Given the description of an element on the screen output the (x, y) to click on. 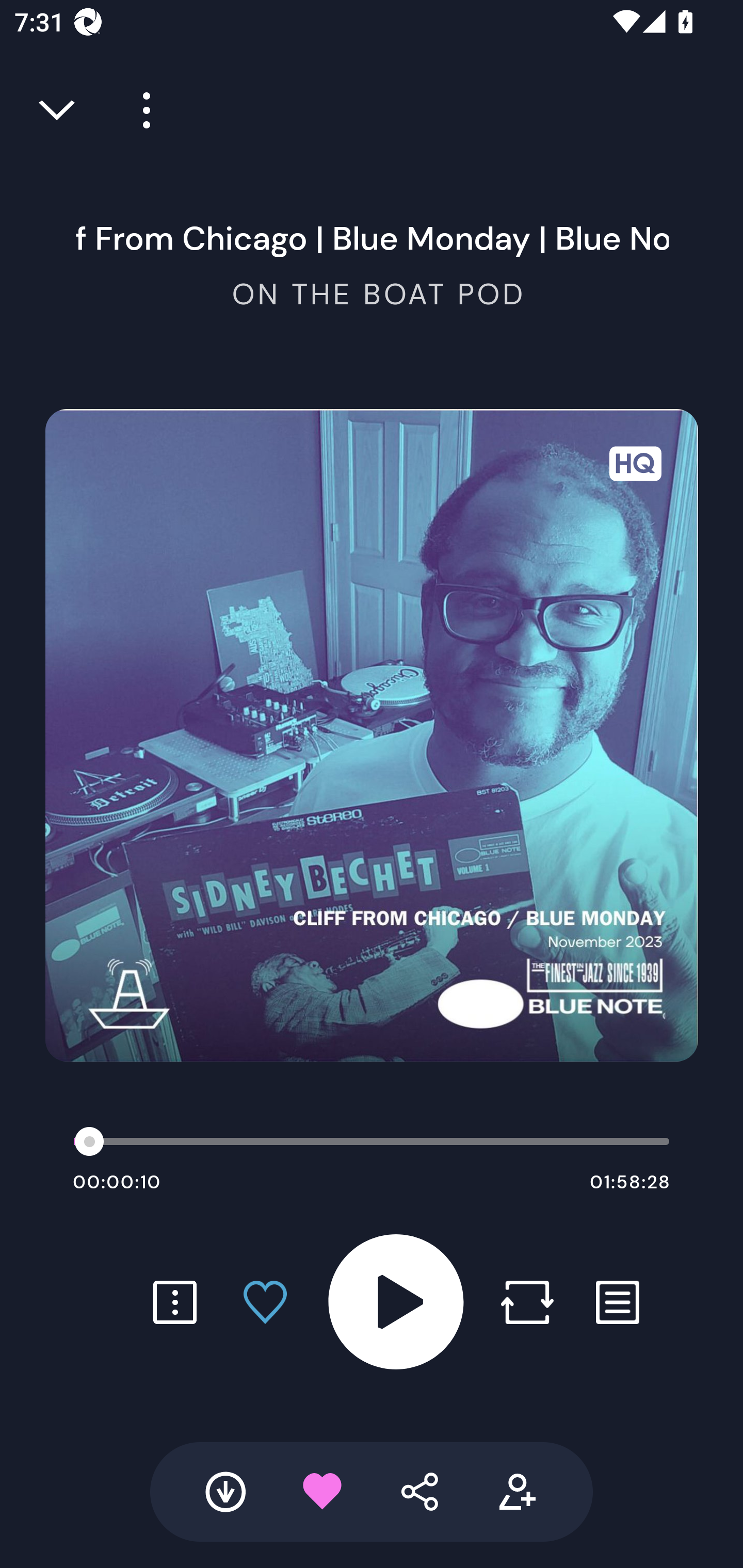
Close full player (58, 110)
Player more options button (139, 110)
Repost button (527, 1301)
